Given the description of an element on the screen output the (x, y) to click on. 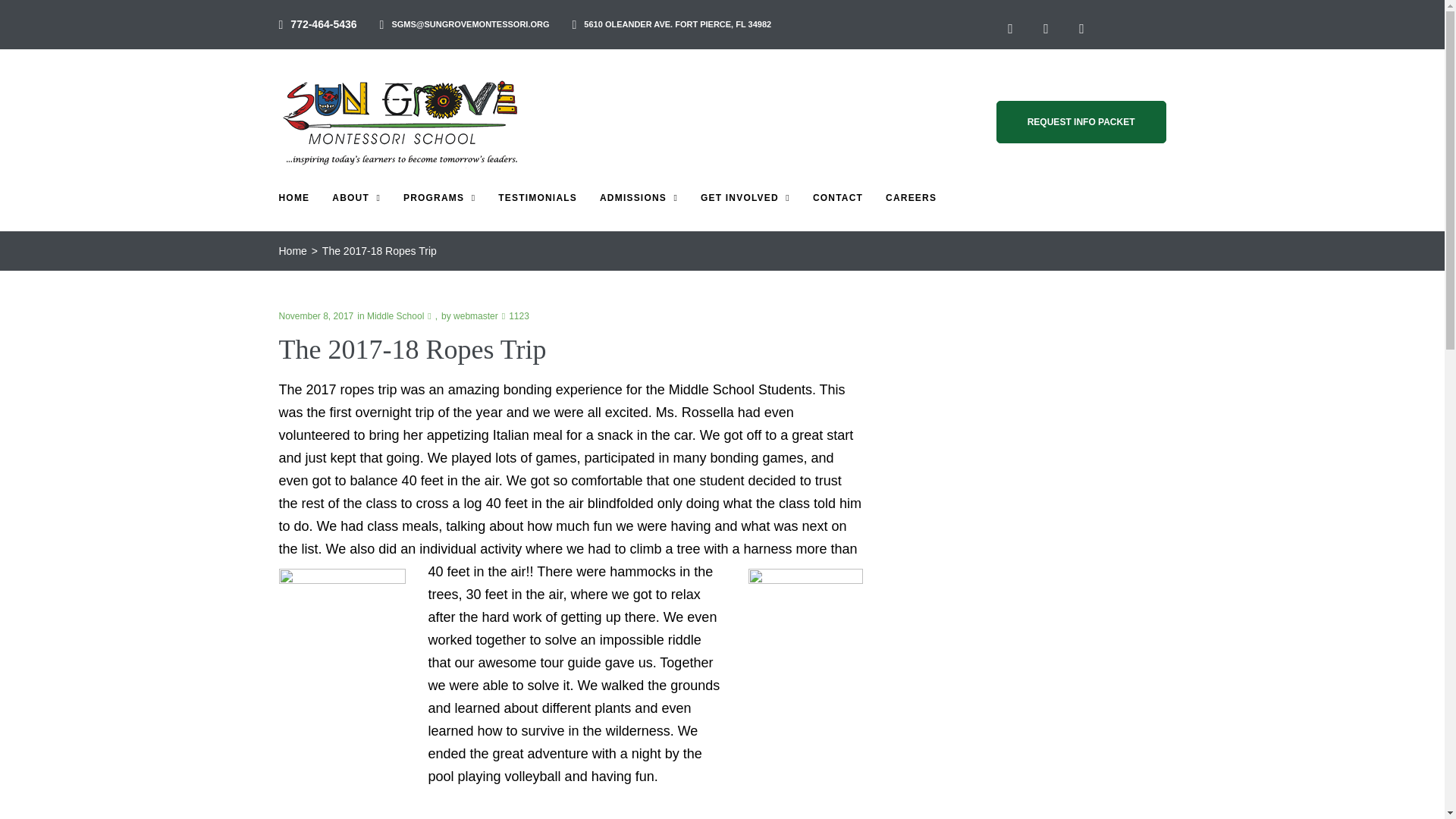
PROGRAMS (439, 197)
Home (293, 250)
Home (293, 250)
GET INVOLVED (745, 197)
REQUEST INFO PACKET (1080, 121)
CONTACT (837, 197)
ADMISSIONS (638, 197)
Instagram (1081, 28)
webmaster (474, 316)
CAREERS (910, 197)
